Given the description of an element on the screen output the (x, y) to click on. 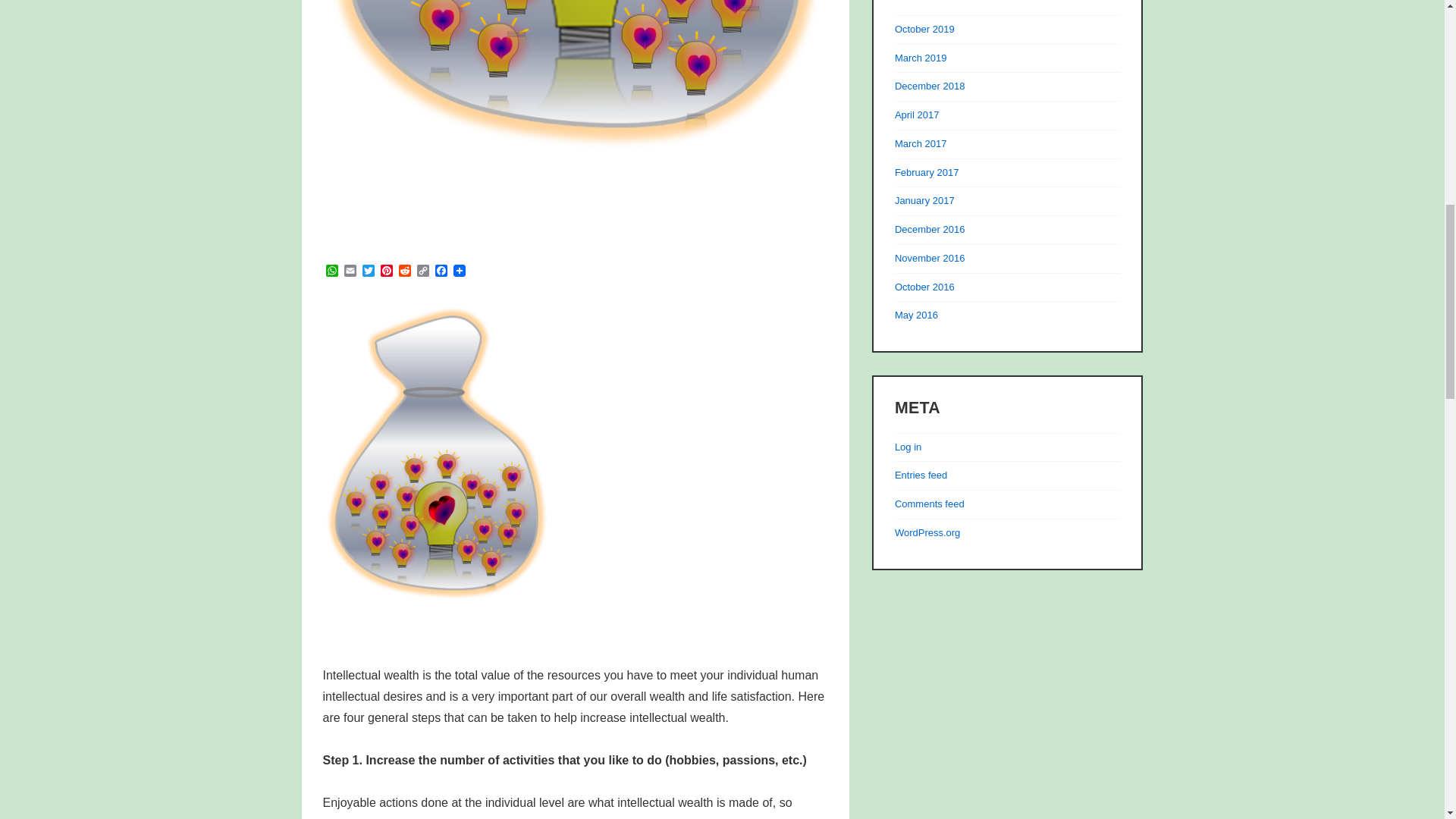
Twitter (368, 271)
Copy Link (422, 271)
Email (349, 271)
Reddit (404, 271)
Pinterest (386, 271)
Copy Link (422, 271)
Email (349, 271)
Twitter (368, 271)
Reddit (404, 271)
Pinterest (386, 271)
